Given the description of an element on the screen output the (x, y) to click on. 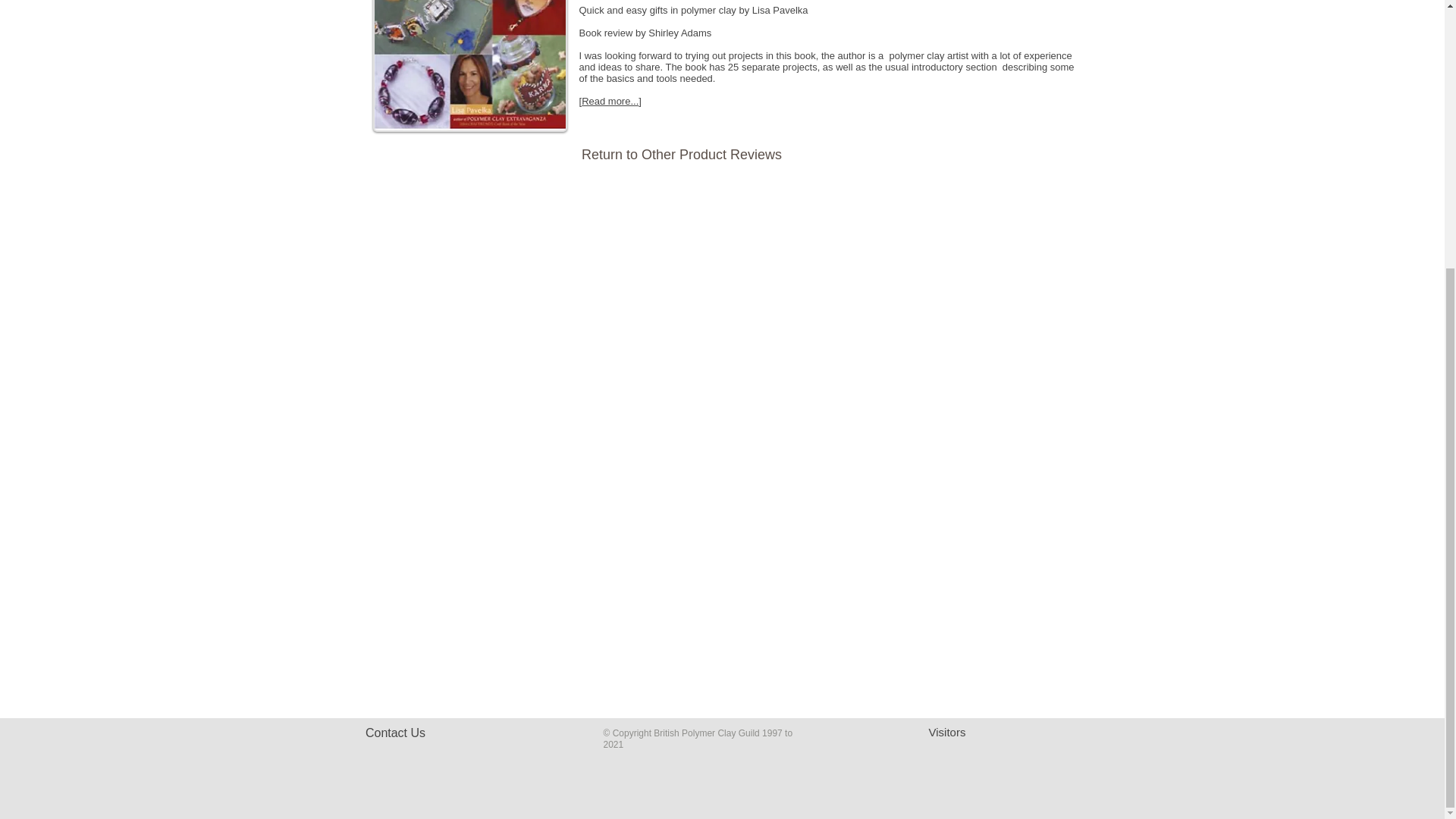
Quick and easy gifts in polymer clay  (469, 65)
Read more... (609, 101)
Return to Other Product Reviews (681, 155)
Contact Us (394, 733)
